Given the description of an element on the screen output the (x, y) to click on. 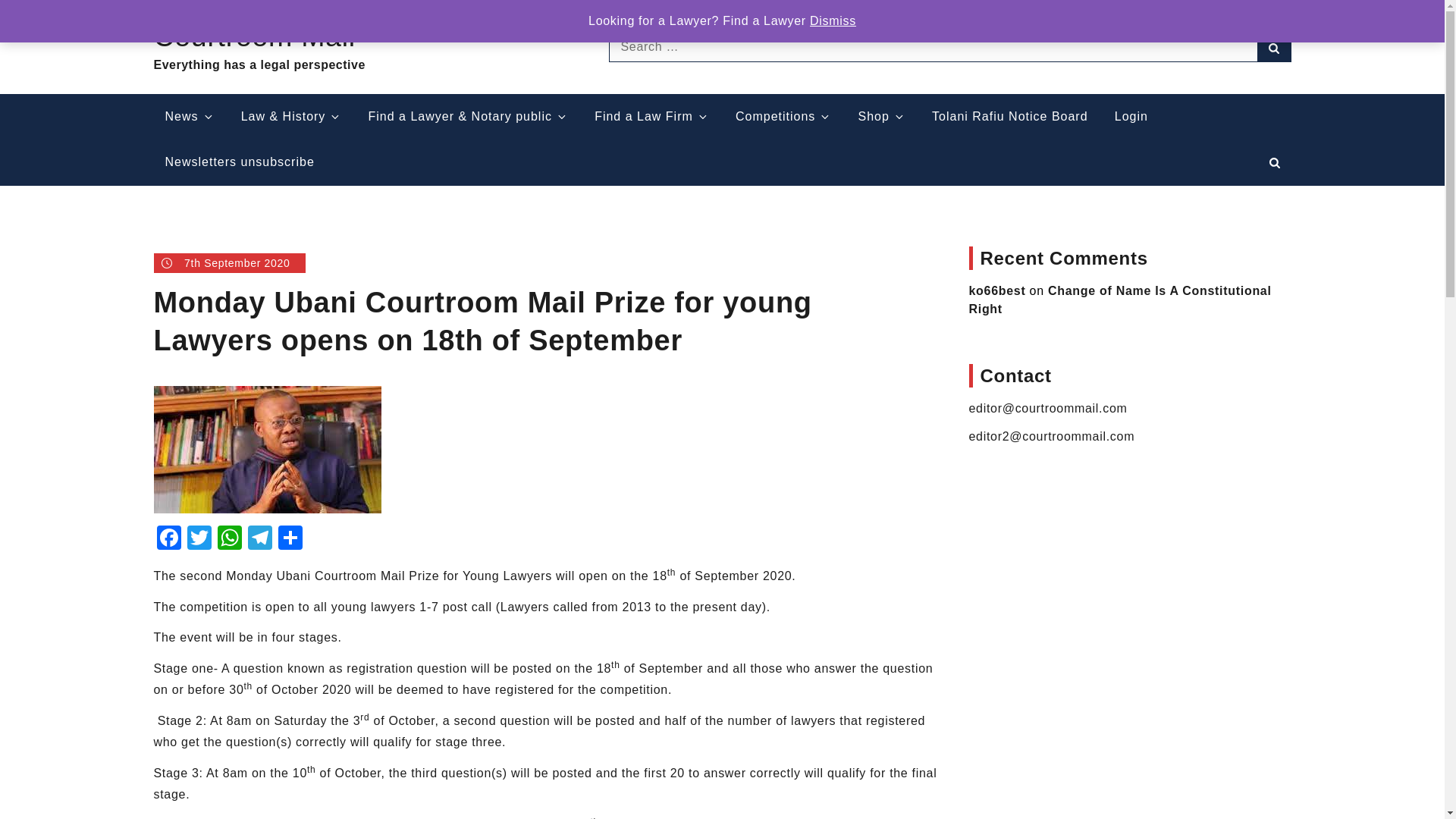
Login (1130, 117)
Twitter (198, 539)
Courtroom Mail (253, 36)
Competitions (783, 117)
Shop (882, 117)
7th September 2020 (228, 262)
Facebook (167, 539)
Facebook (167, 539)
News (188, 117)
Twitter (198, 539)
